Given the description of an element on the screen output the (x, y) to click on. 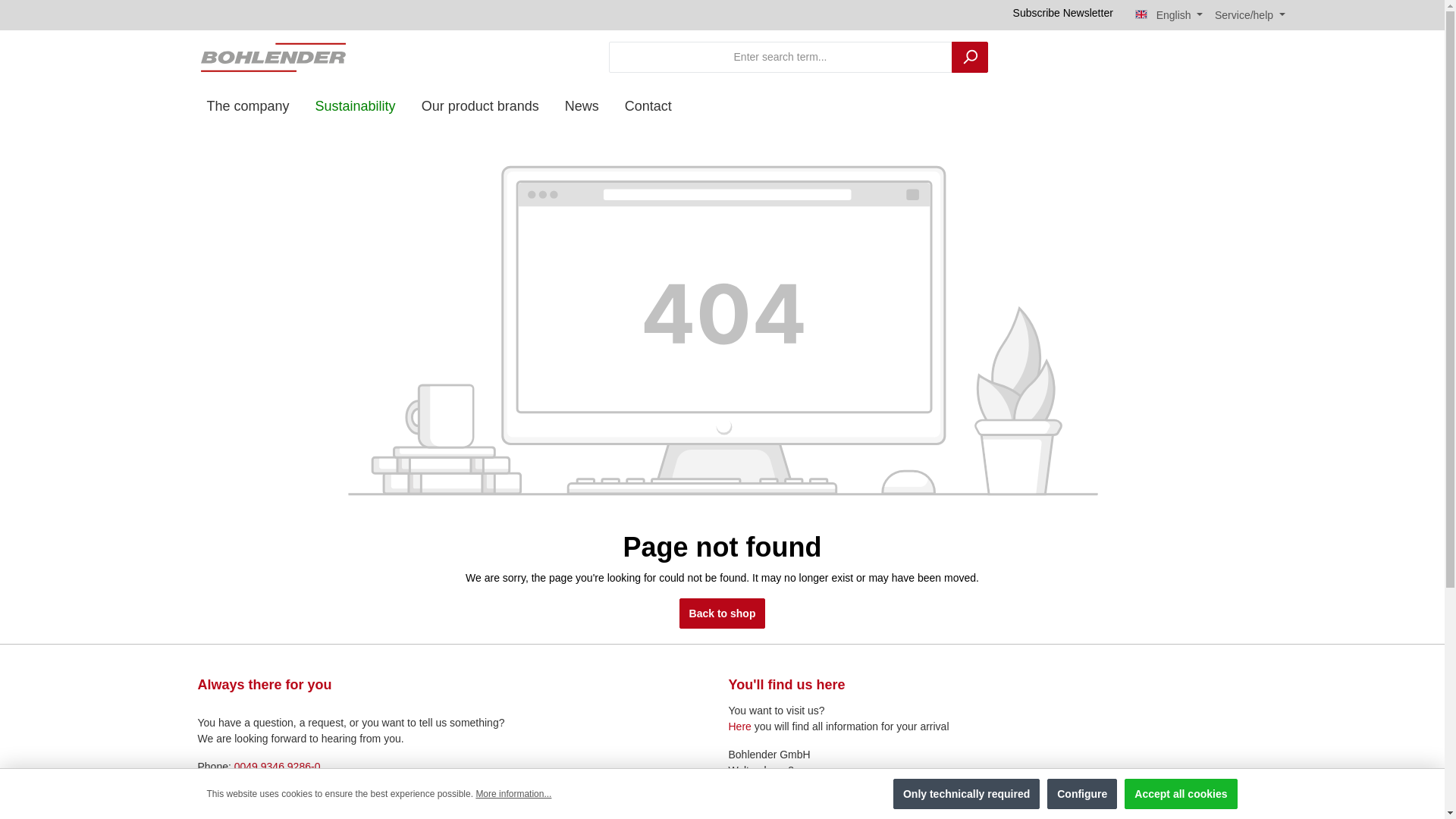
Subscribe Newsletter (1072, 15)
Newsletter abonnieren (1072, 15)
News (581, 105)
English (1168, 14)
News (581, 105)
Contact (647, 105)
The company (247, 105)
Our product brands (480, 105)
The company (247, 105)
Our product brands (480, 105)
Sustainability (355, 105)
Contact (647, 105)
Go to homepage (272, 56)
Sustainability (355, 105)
